Given the description of an element on the screen output the (x, y) to click on. 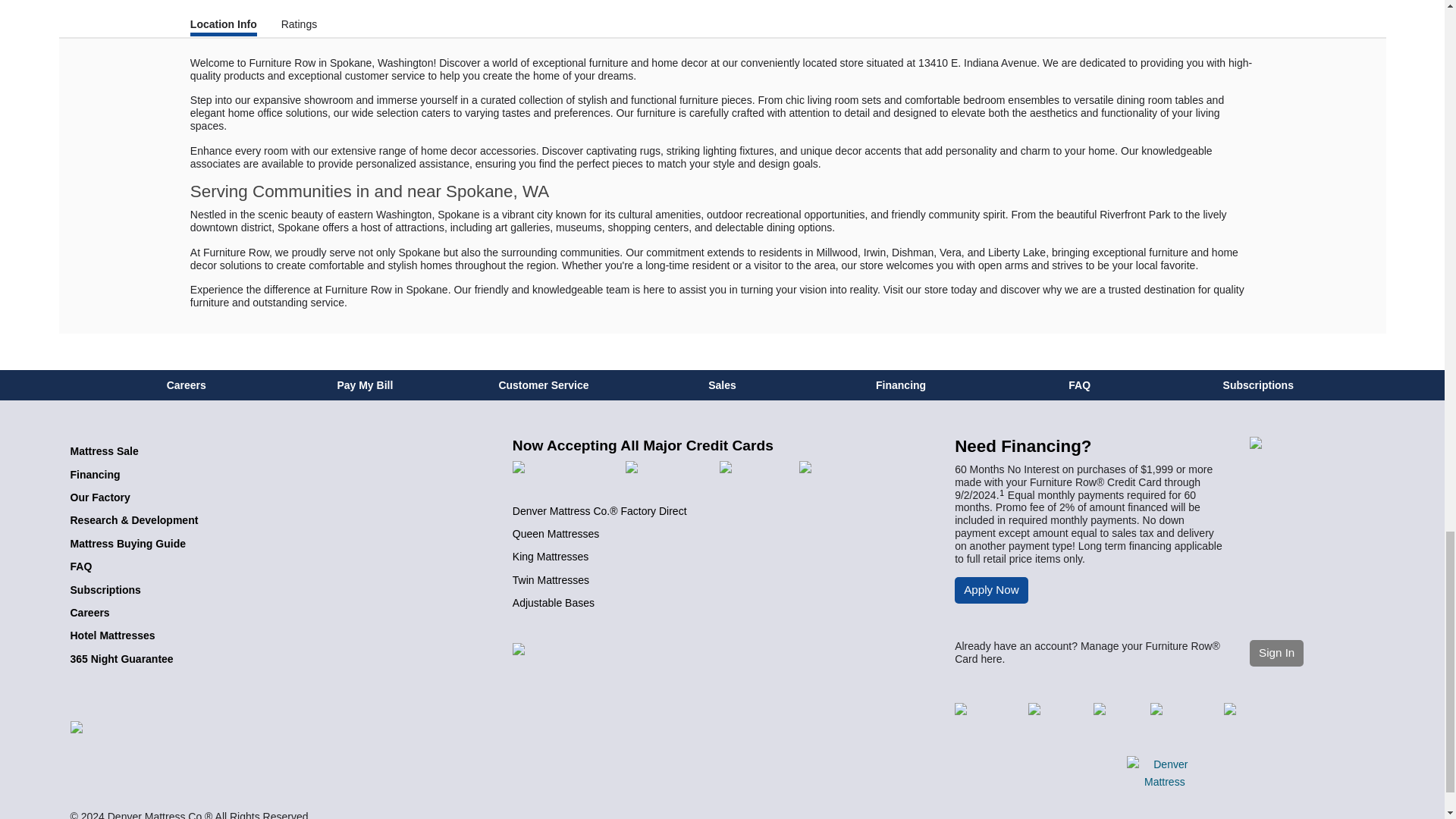
Ratings (300, 24)
Click to see our accessibility statement. (721, 651)
Location Info (223, 26)
